Given the description of an element on the screen output the (x, y) to click on. 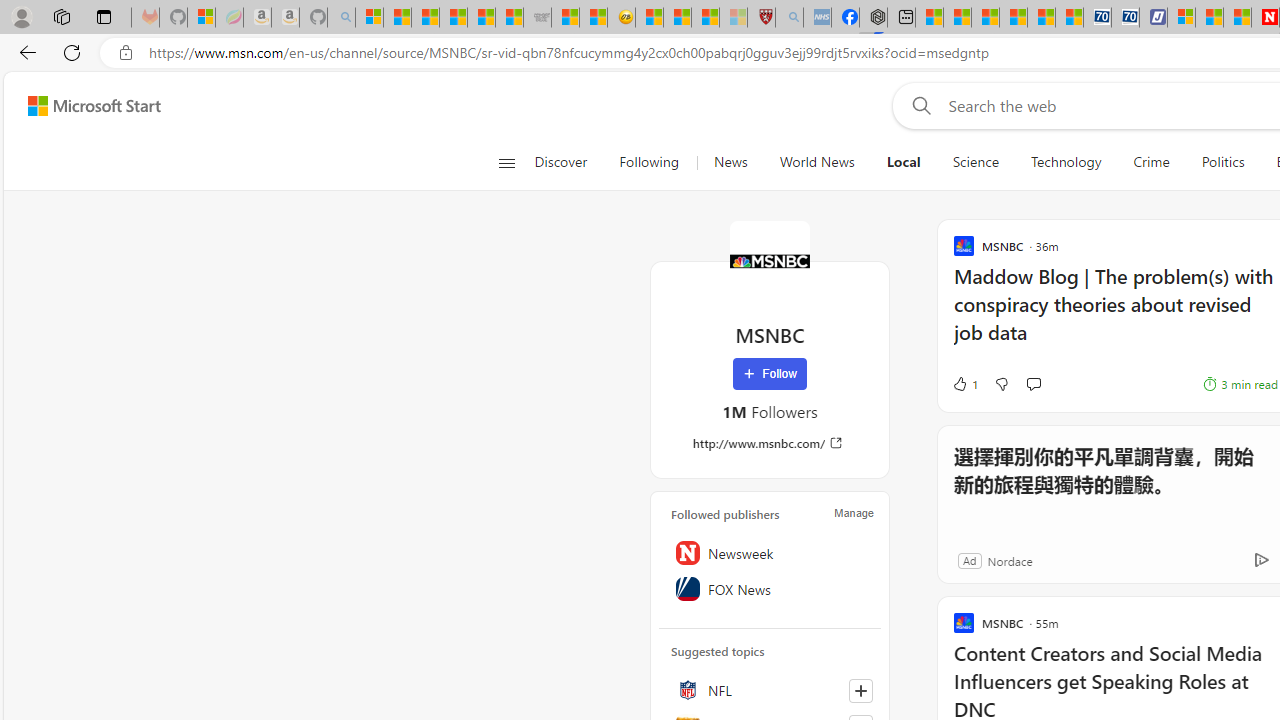
Newsweek (770, 552)
World News (817, 162)
Cheap Car Rentals - Save70.com (1097, 17)
